Given the description of an element on the screen output the (x, y) to click on. 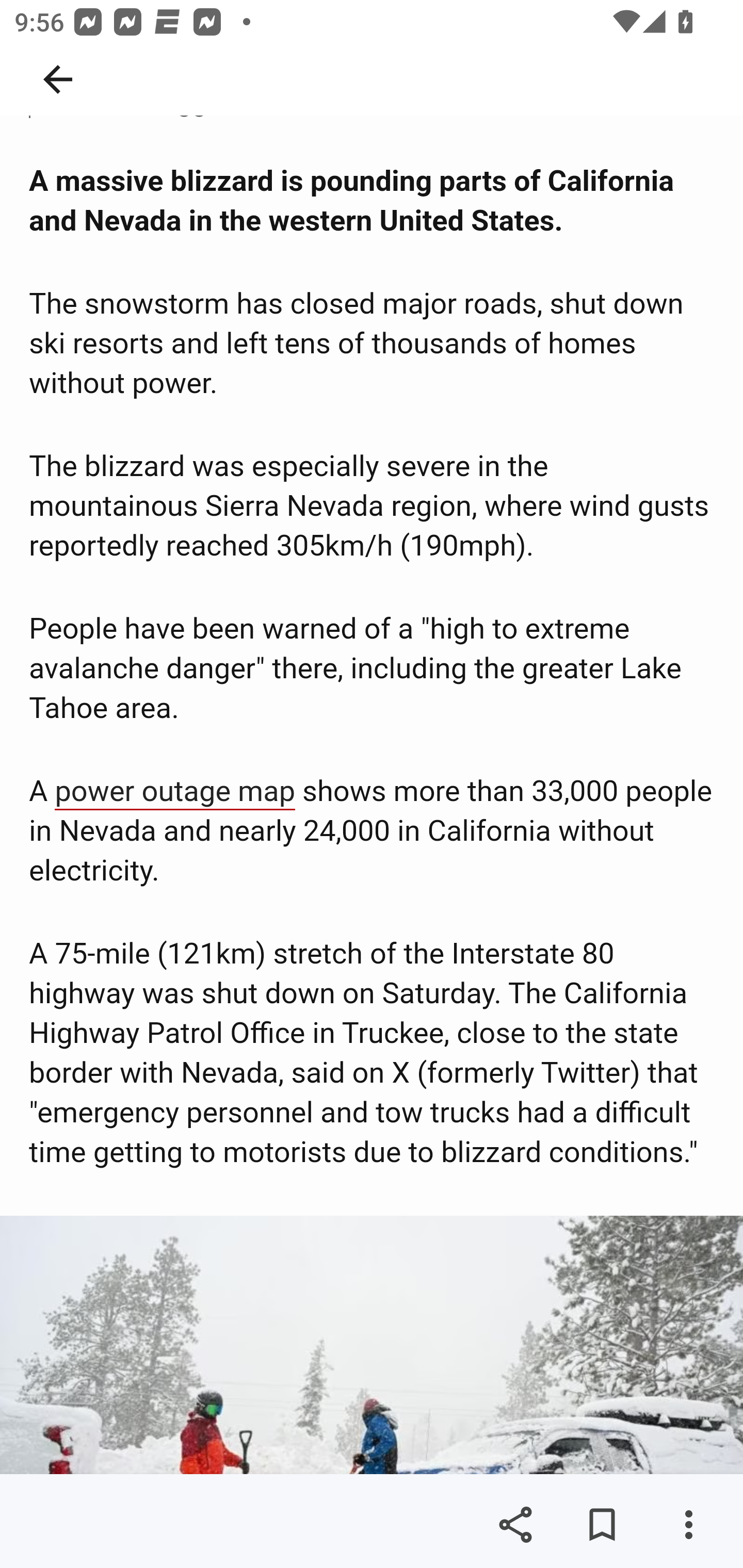
Navigate up (57, 79)
power outage map, external power outage map (175, 793)
Share (514, 1524)
Save for later (601, 1524)
More options (688, 1524)
